Given the description of an element on the screen output the (x, y) to click on. 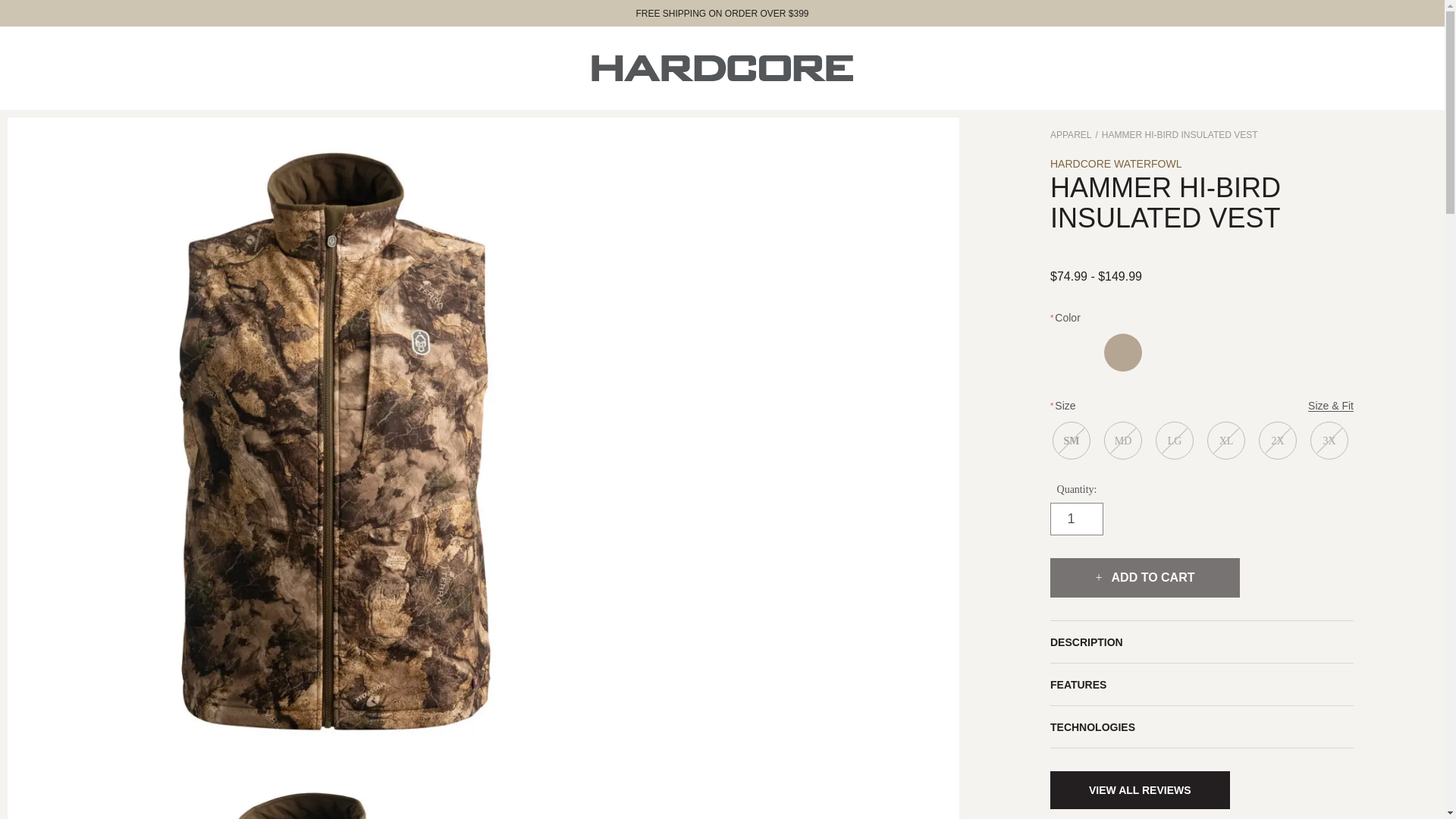
ADD TO CART (1144, 577)
VIEW ALL REVIEWS (1139, 790)
HARDCORE WATERFOWL (1114, 163)
APPAREL (1069, 134)
1 (1076, 518)
